Given the description of an element on the screen output the (x, y) to click on. 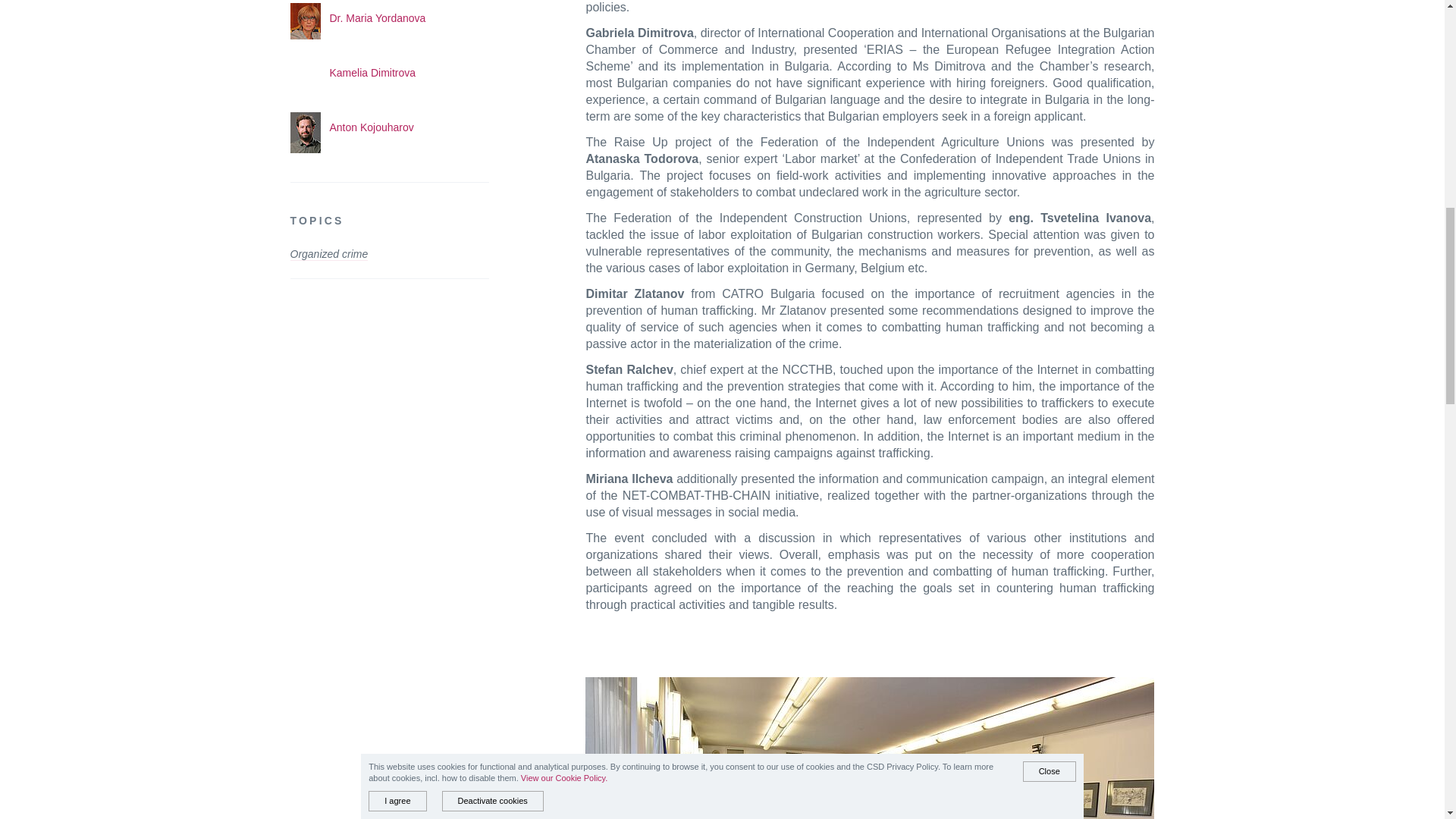
Anton Kojouharov (371, 127)
Dr. Maria Yordanova (377, 18)
Kamelia Dimitrova (371, 72)
